Given the description of an element on the screen output the (x, y) to click on. 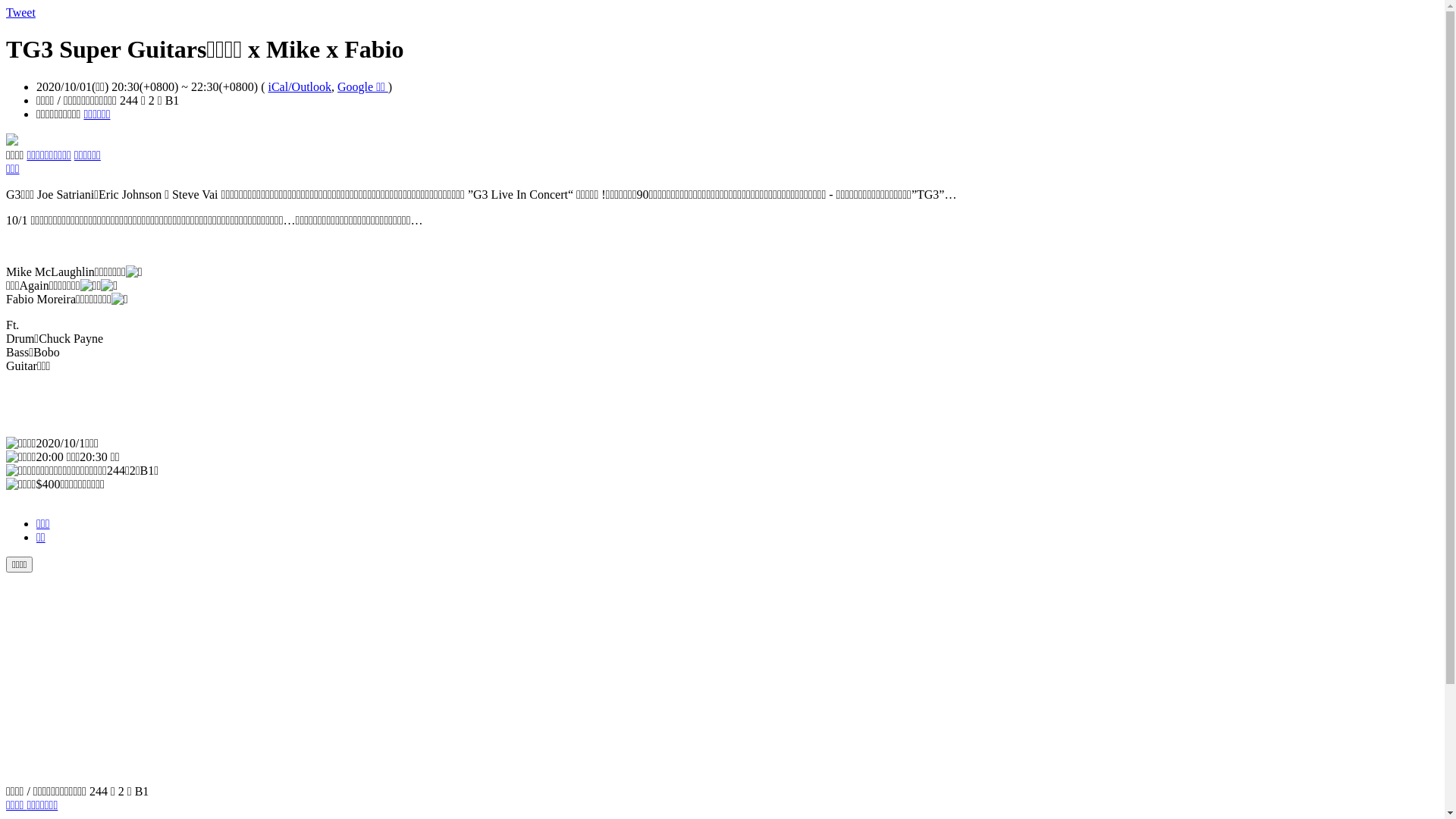
Tweet Element type: text (20, 12)
iCal/Outlook Element type: text (299, 86)
